Given the description of an element on the screen output the (x, y) to click on. 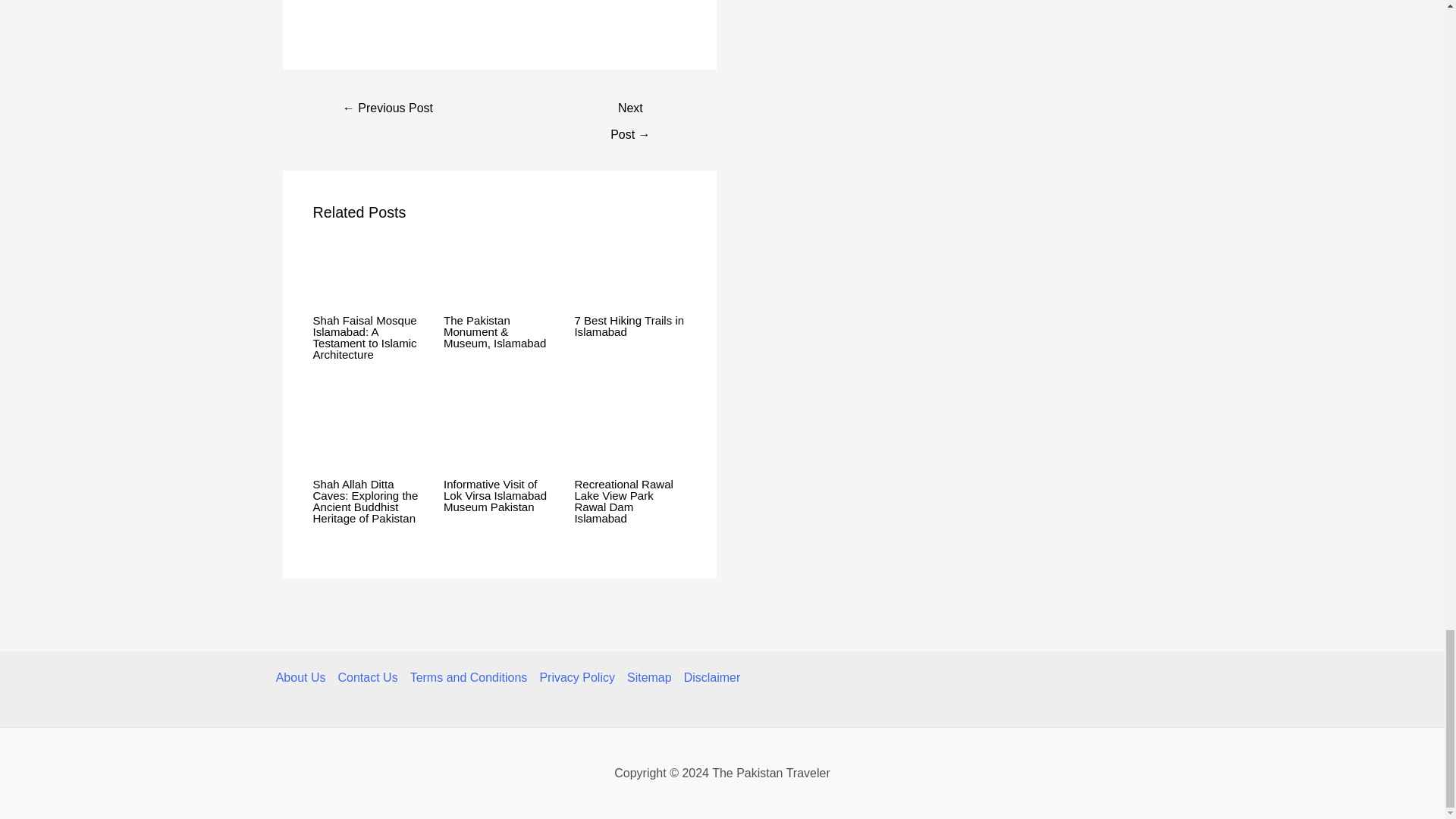
2400 Years Green Hills, Sadhu ka Bagh Caves in Islamabad (630, 109)
